Given the description of an element on the screen output the (x, y) to click on. 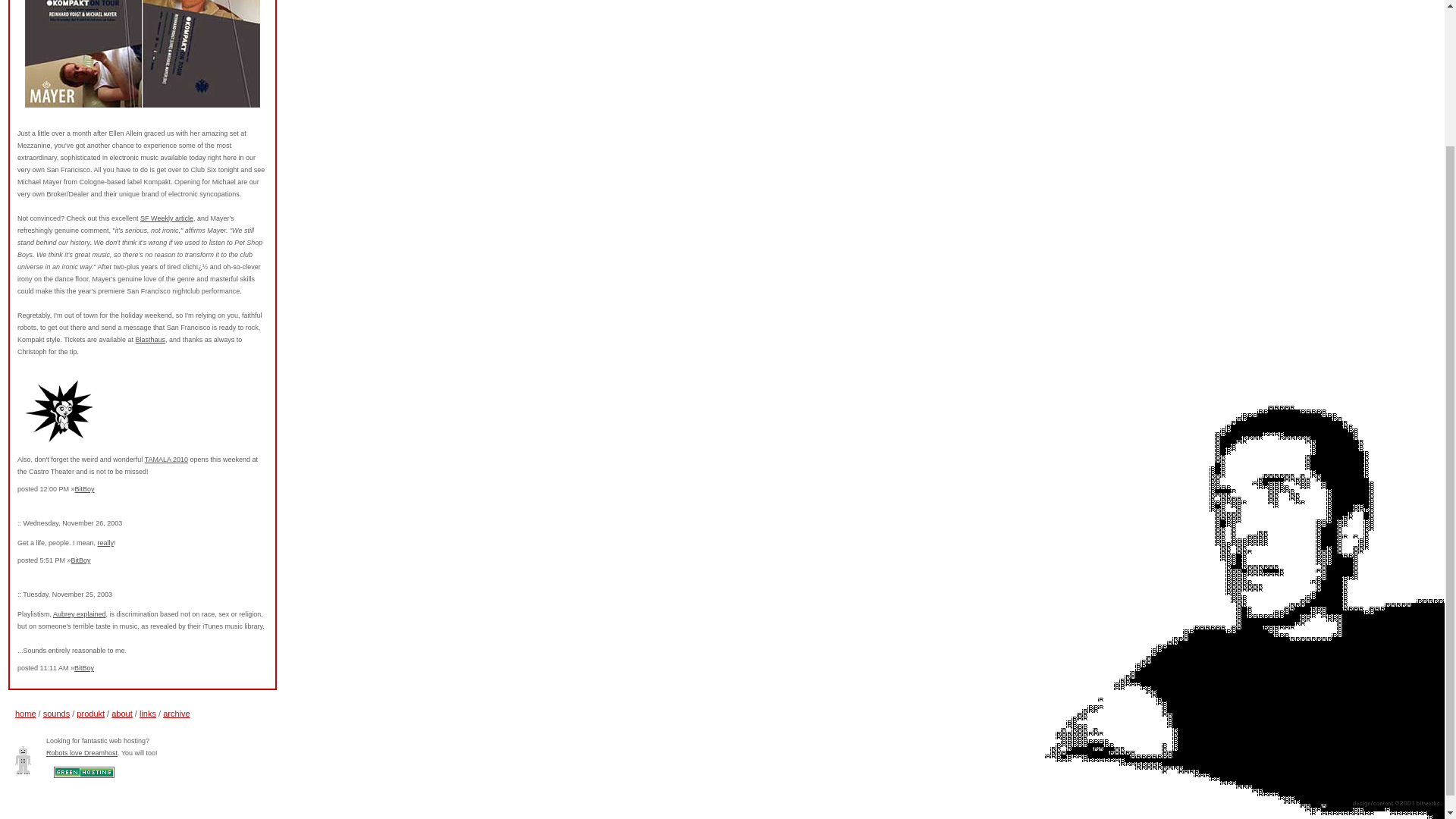
archive (176, 713)
TAMALA 2010 (165, 459)
BitBoy (84, 489)
BitBoy (80, 560)
links (147, 713)
really (106, 542)
about (122, 713)
BitBoy (84, 667)
Aubrey explained (79, 614)
Robots love Dreamhost (81, 752)
